Given the description of an element on the screen output the (x, y) to click on. 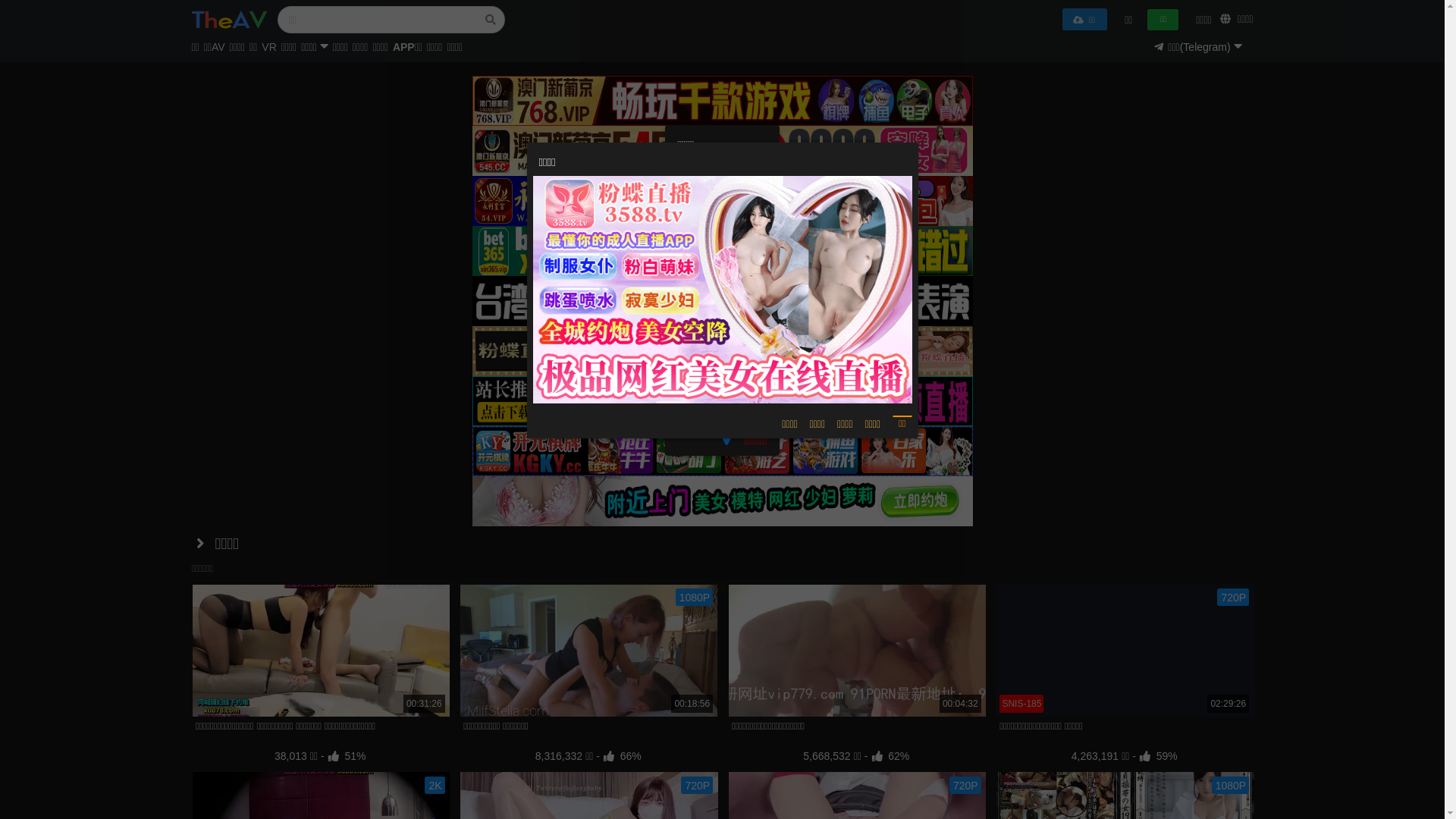
https://thea1470.cc Element type: text (721, 383)
https://thea1478.cc Element type: text (721, 235)
https://thea1461.cc Element type: text (721, 277)
https://thea1463.cc Element type: text (721, 298)
00:31:26 Element type: text (319, 650)
02:29:26
720P
SNIS-185 Element type: text (1124, 650)
https://thea1474.cc Element type: text (721, 256)
TheAV  Element type: hover (228, 19)
https://thea1457.cc Element type: text (721, 404)
VR Element type: text (268, 49)
00:18:56
1080P Element type: text (588, 650)
00:04:32 Element type: text (856, 650)
https://thea1465.cc Element type: text (721, 213)
https://thea1473.cc Element type: text (721, 319)
https://thea1462.cc Element type: text (721, 341)
https://thea1466.cc Element type: text (721, 362)
